Given the description of an element on the screen output the (x, y) to click on. 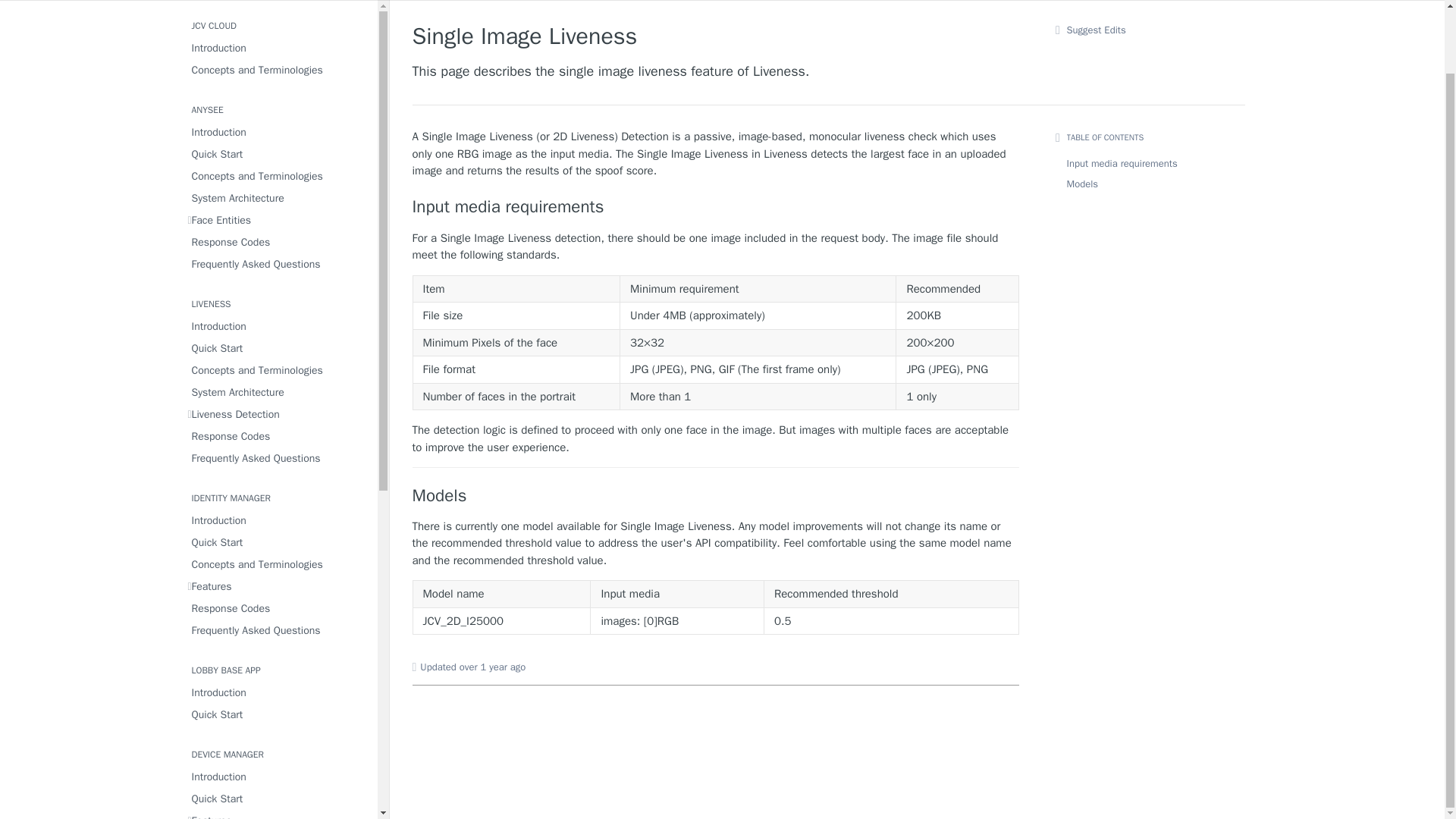
System Architecture (277, 198)
Frequently Asked Questions (277, 263)
Introduction (277, 47)
Models (715, 495)
Introduction (277, 132)
Input media requirements (715, 206)
Concepts and Terminologies (277, 176)
Quick Start (277, 154)
Response Codes (277, 241)
Face Entities (277, 219)
